Given the description of an element on the screen output the (x, y) to click on. 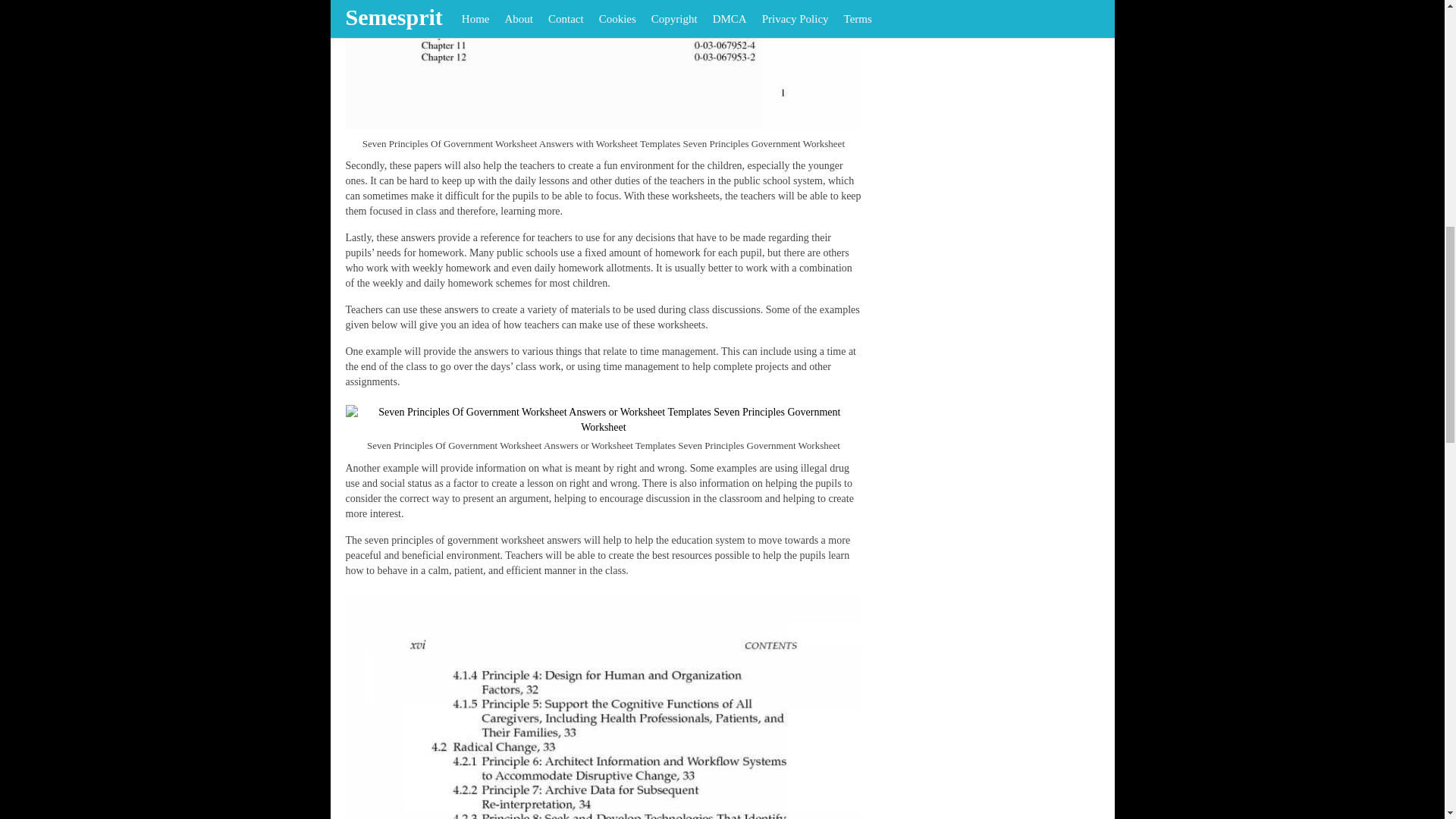
Seven Principles Of Government Worksheet Answers 1 (603, 64)
Seven Principles Of Government Worksheet Answers 3 (603, 706)
Seven Principles Of Government Worksheet Answers 2 (603, 419)
